Given the description of an element on the screen output the (x, y) to click on. 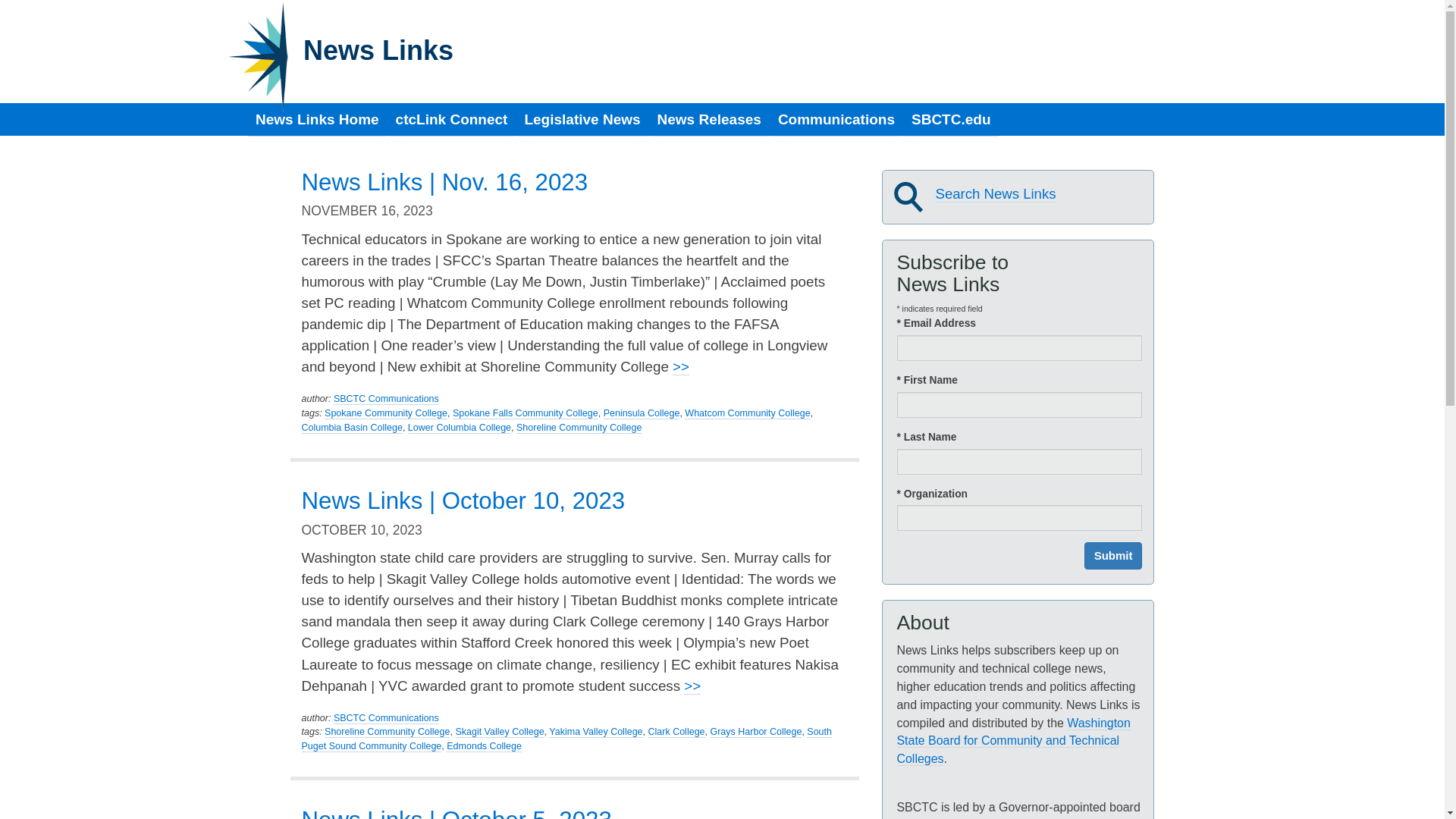
Shoreline Community College (386, 731)
ctcLink Connect (451, 119)
News Links Home (317, 119)
SBCTC.edu (950, 119)
Legislative News (581, 119)
Yakima Valley College (595, 731)
SBCTC Communications (386, 398)
News Links (377, 50)
Spokane Community College (385, 413)
Communications (836, 119)
Spokane Falls Community College (525, 413)
Skagit Valley College (498, 731)
Grays Harbor College (756, 731)
Lower Columbia College (459, 428)
Edmonds College (483, 746)
